Given the description of an element on the screen output the (x, y) to click on. 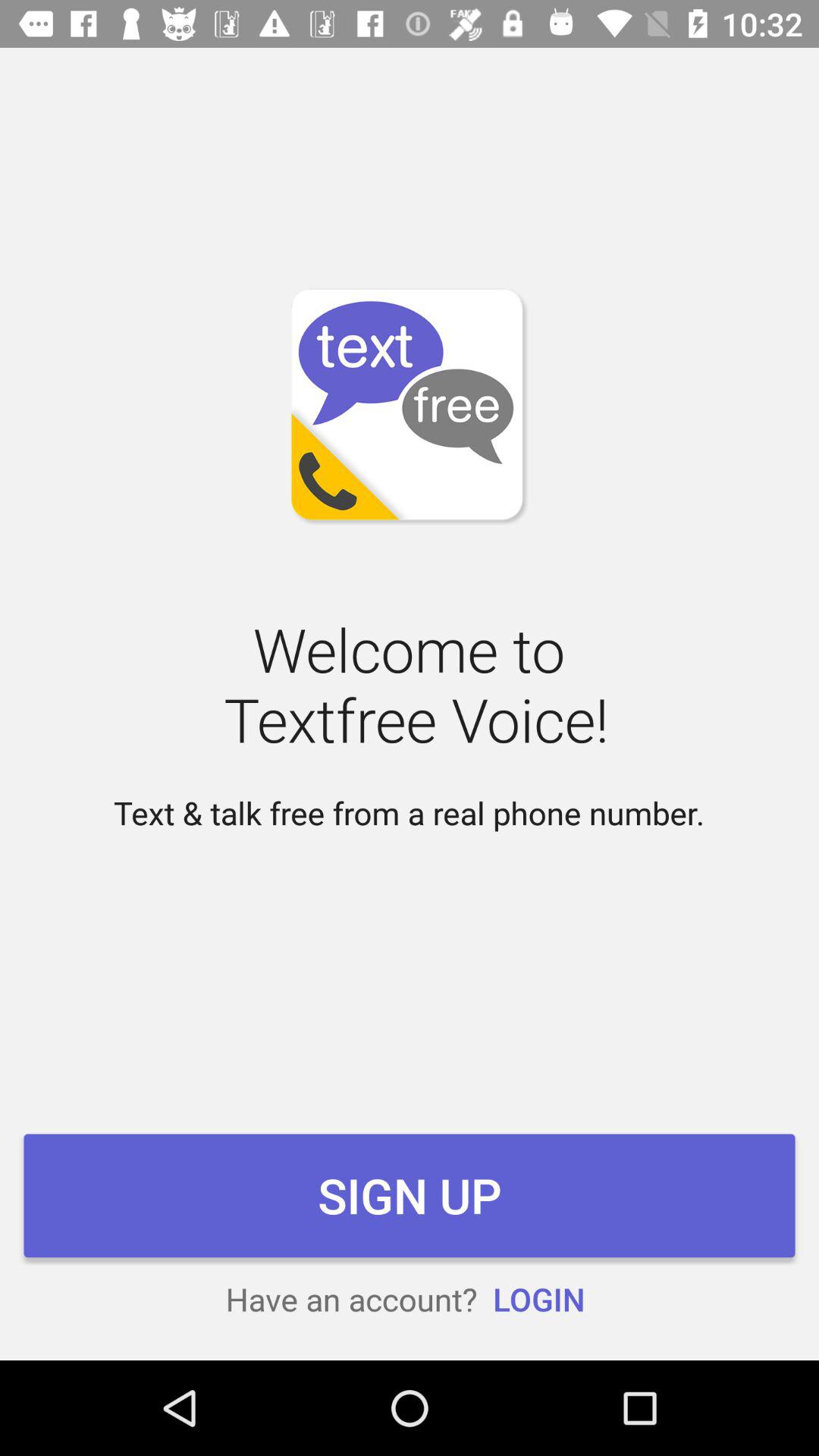
tap icon next to the have an account? icon (539, 1298)
